Given the description of an element on the screen output the (x, y) to click on. 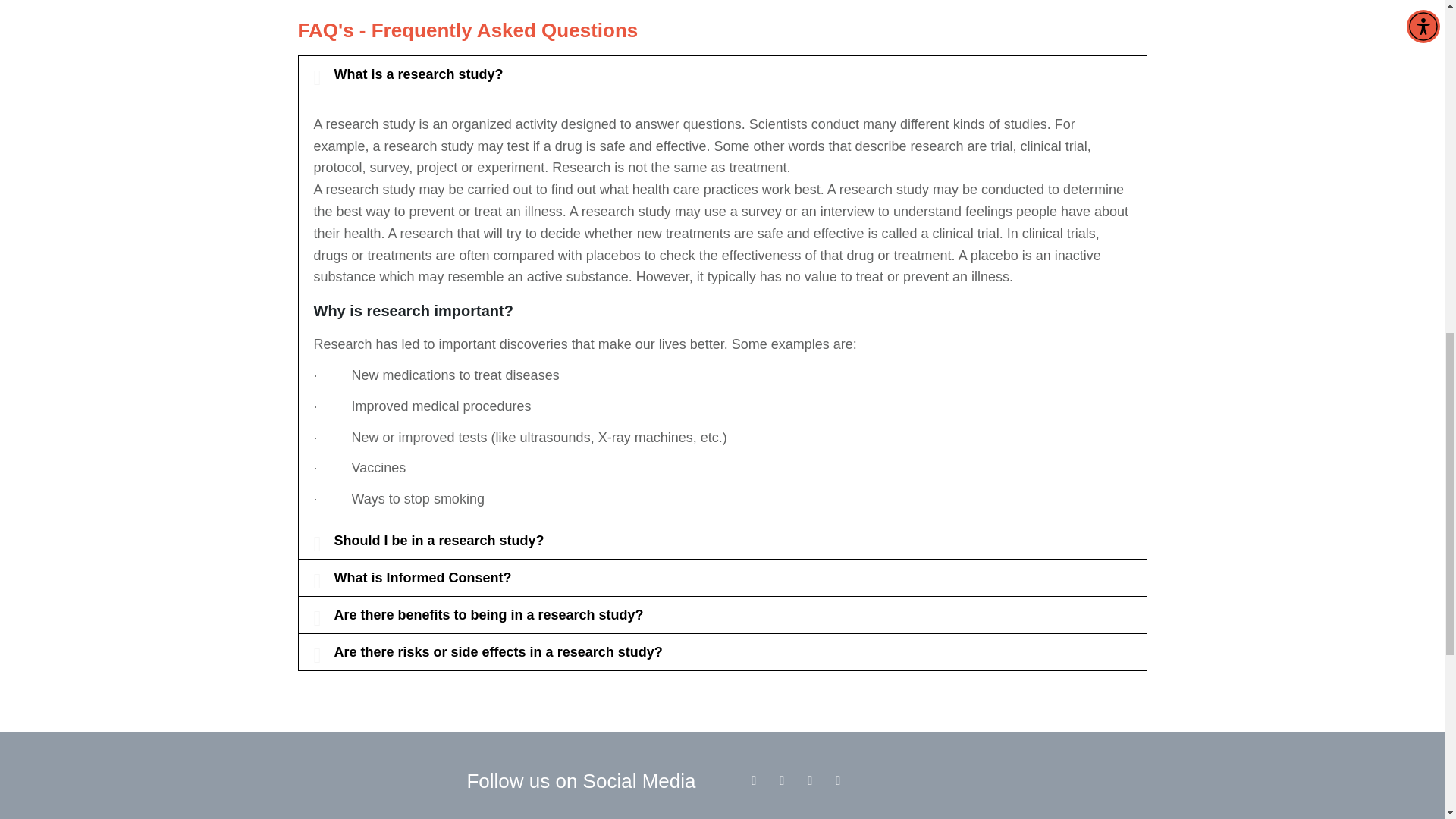
Should I be in a research study? (438, 540)
What is a research study? (417, 73)
Are there benefits to being in a research study? (488, 614)
Are there risks or side effects in a research study? (497, 652)
What is Informed Consent? (422, 577)
